Given the description of an element on the screen output the (x, y) to click on. 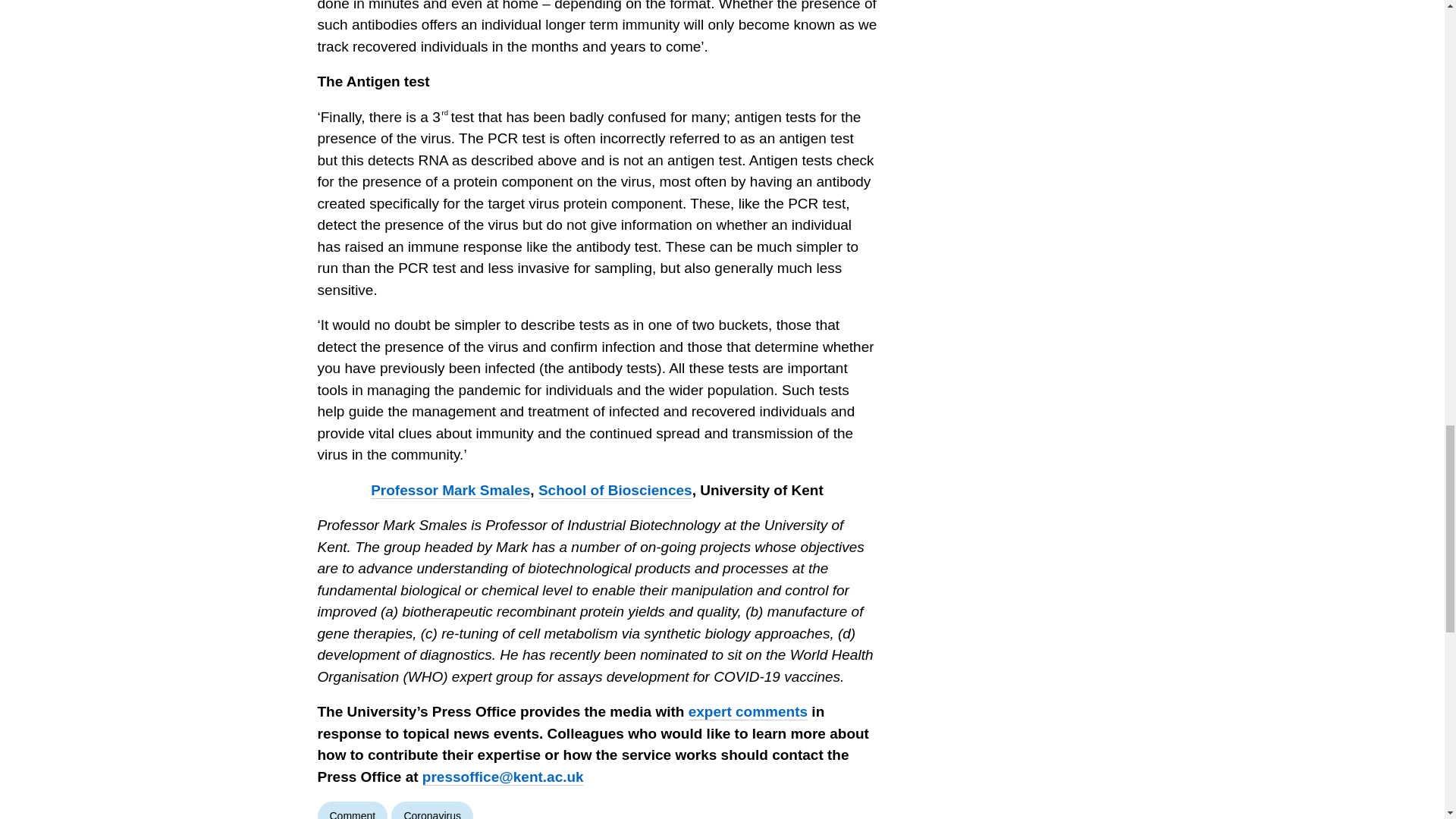
Coronavirus (431, 810)
Comment (352, 810)
School of Biosciences (615, 490)
Professor Mark Smales (450, 490)
expert comments (748, 711)
